Given the description of an element on the screen output the (x, y) to click on. 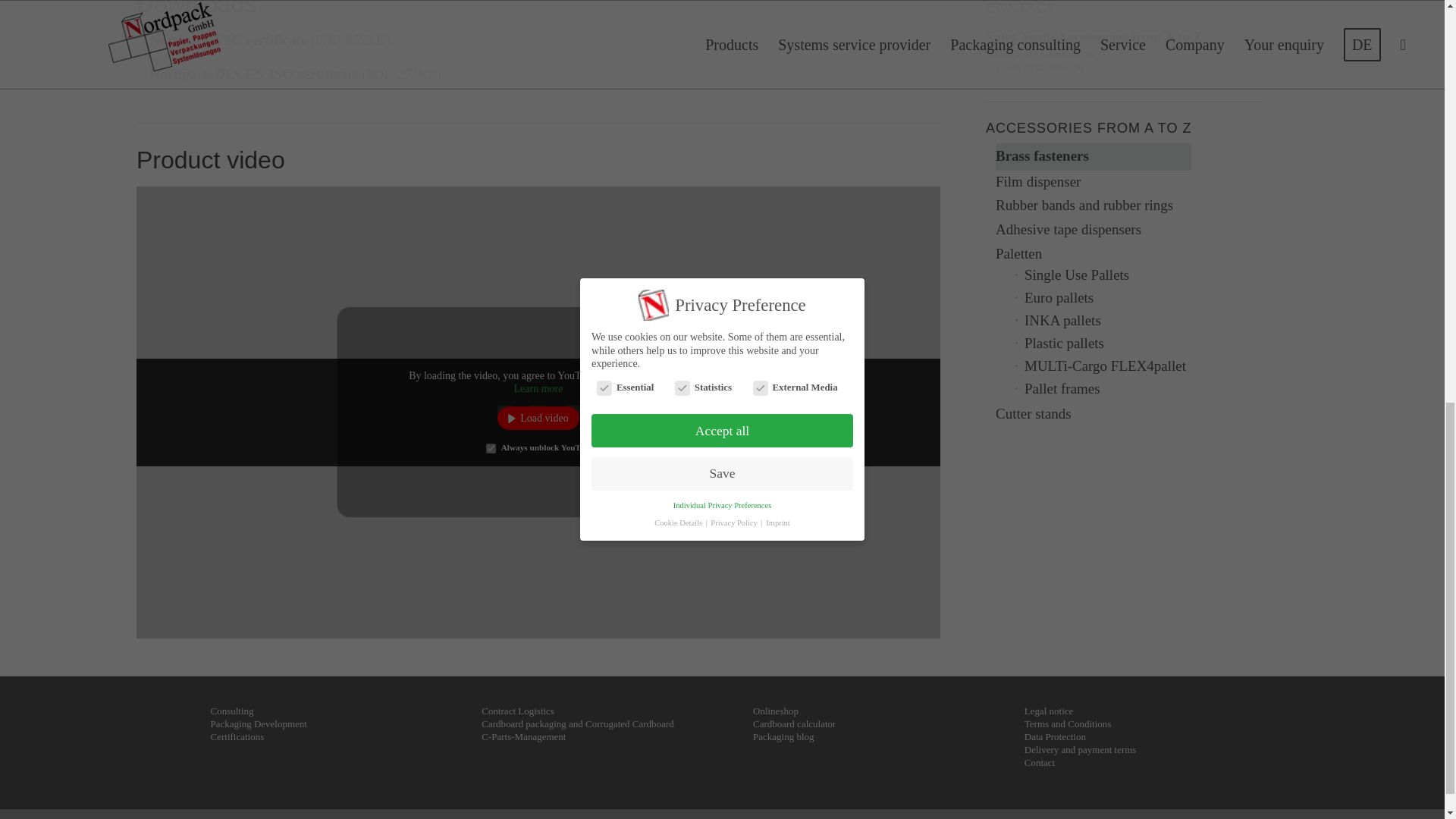
Dribbble (1222, 817)
1 (491, 448)
Twitter (1200, 817)
